Given the description of an element on the screen output the (x, y) to click on. 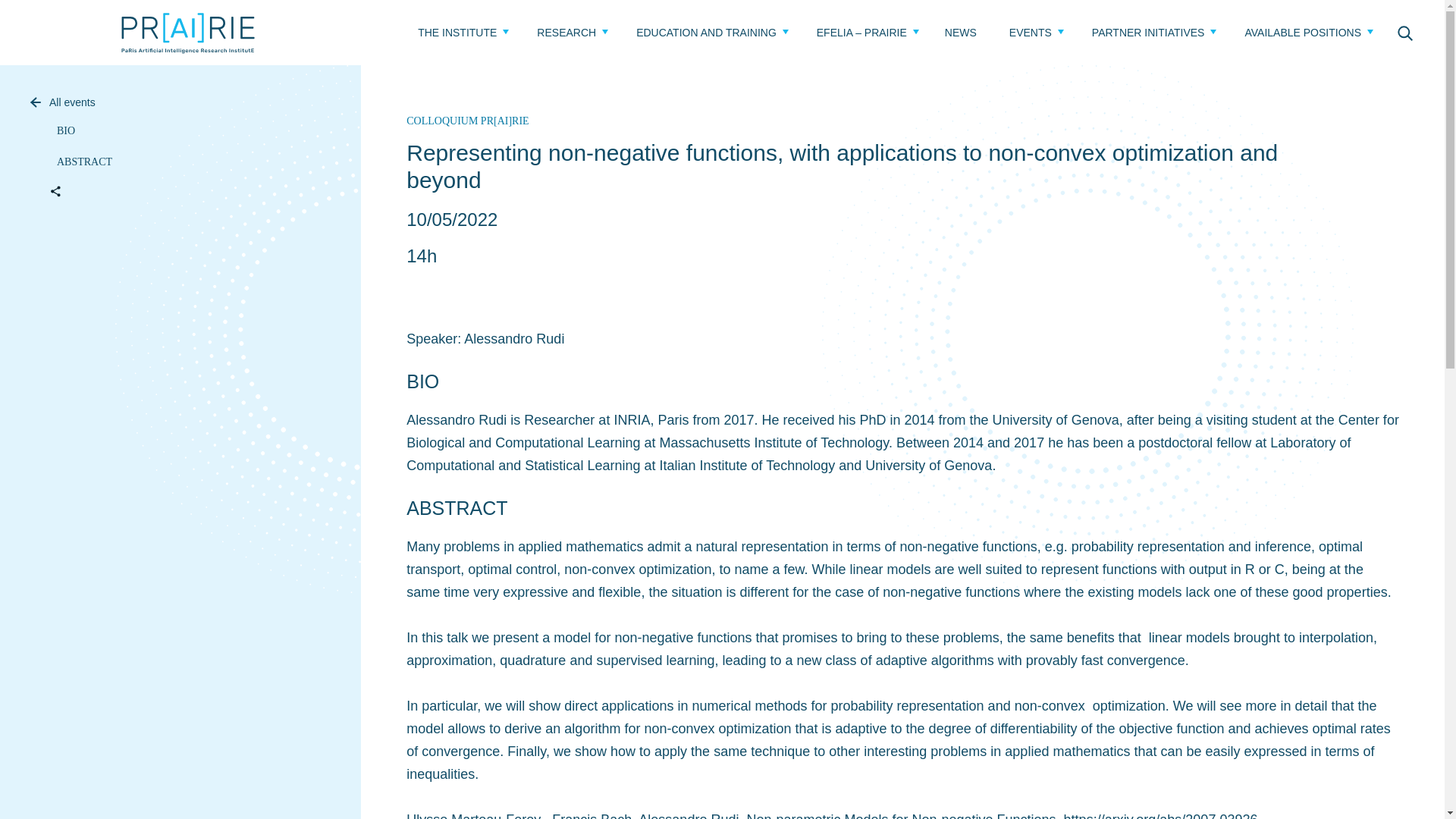
RESEARCH (566, 31)
Abstract (80, 161)
Search (1404, 31)
NEWS (960, 31)
EVENTS (1030, 31)
Search (1404, 31)
PARTNER INITIATIVES (1148, 31)
AVAILABLE POSITIONS (1302, 31)
Bio (62, 130)
Search (1404, 31)
